Given the description of an element on the screen output the (x, y) to click on. 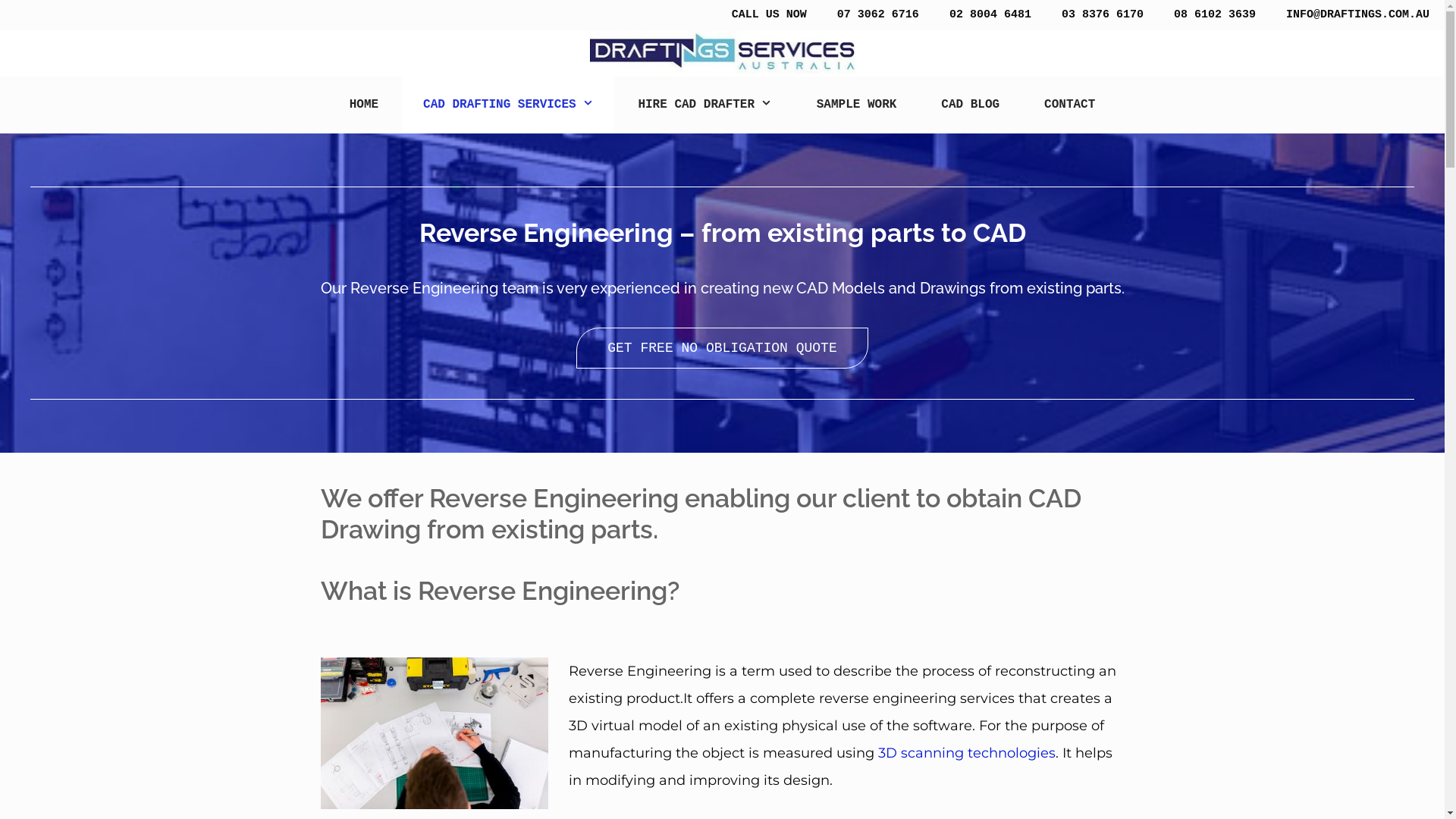
HOME Element type: text (363, 104)
Reverse Engineering Element type: hover (433, 733)
CALL US NOW Element type: text (769, 15)
SAMPLE WORK Element type: text (856, 104)
CAD BLOG Element type: text (969, 104)
CONTACT Element type: text (1069, 104)
02 8004 6481 Element type: text (990, 15)
CAD DRAFTING SERVICES Element type: text (507, 104)
INFO@DRAFTINGS.COM.AU Element type: text (1357, 15)
3D scanning technologies Element type: text (966, 752)
08 6102 3639 Element type: text (1214, 15)
03 8376 6170 Element type: text (1102, 15)
HIRE CAD DRAFTER Element type: text (704, 104)
07 3062 6716 Element type: text (878, 15)
GET FREE NO OBLIGATION QUOTE Element type: text (721, 347)
